Given the description of an element on the screen output the (x, y) to click on. 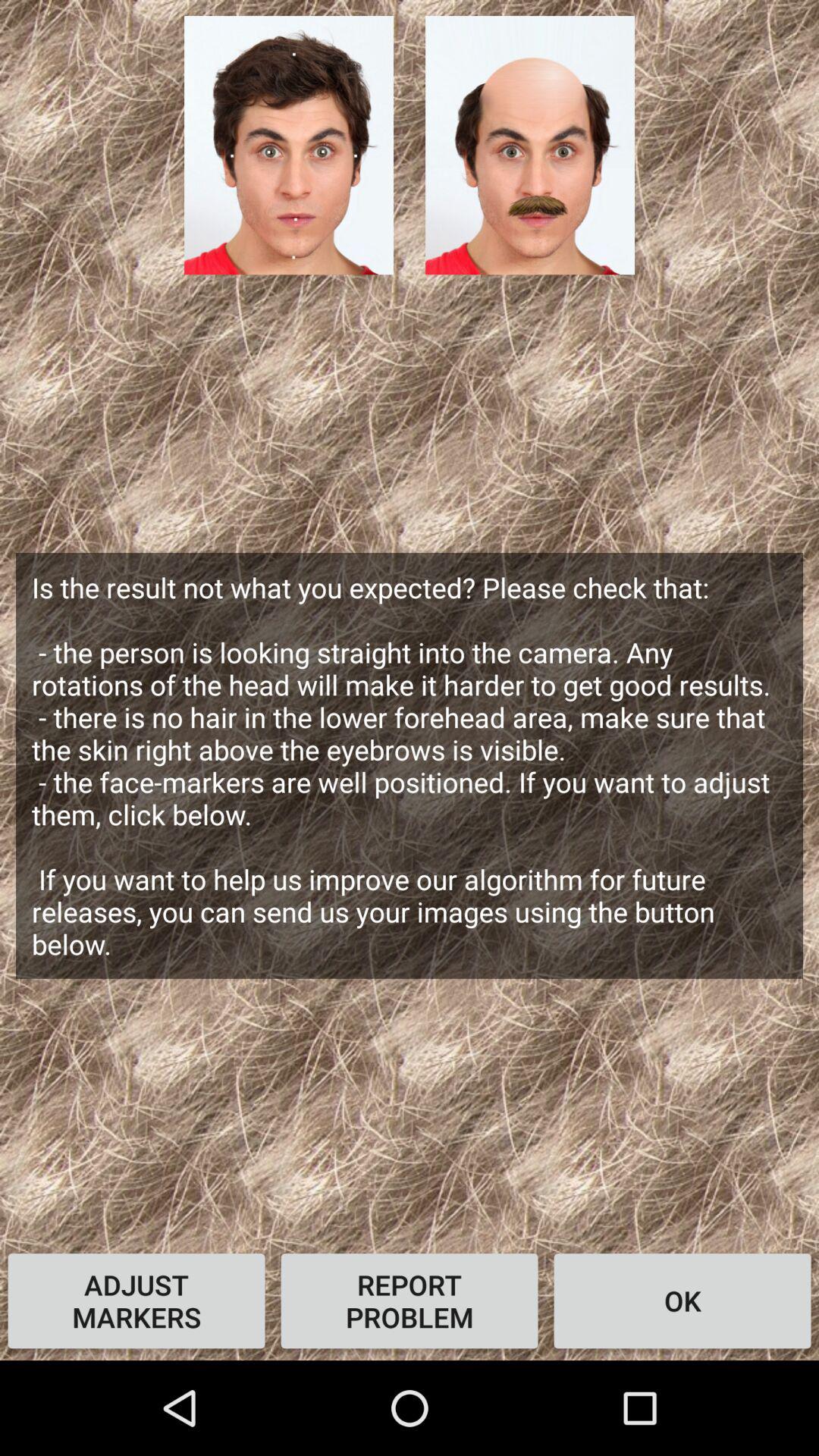
click icon next to report problem (682, 1300)
